Given the description of an element on the screen output the (x, y) to click on. 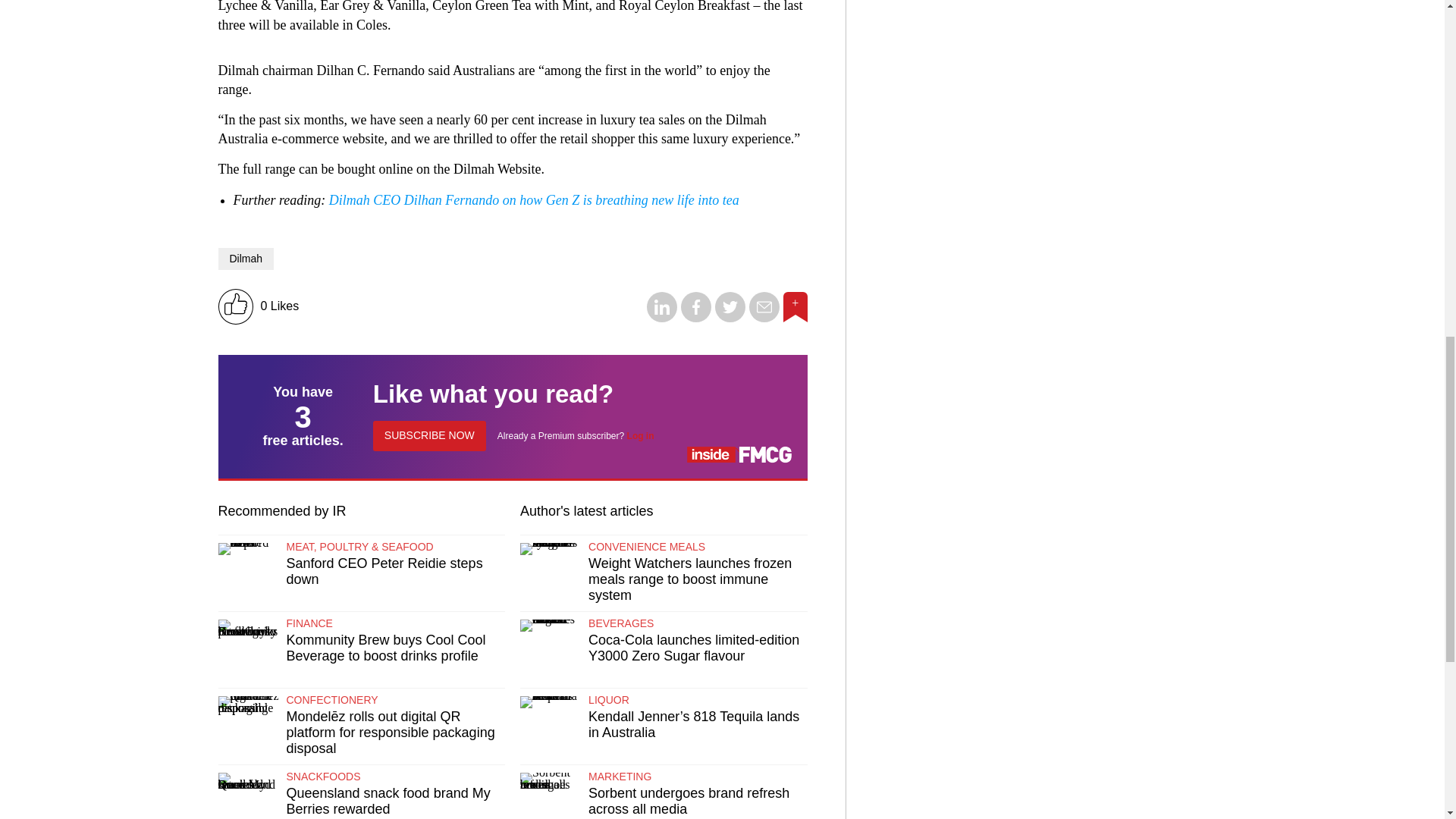
Share on Twitter (730, 318)
Share on Email (764, 318)
Share on Facebook (695, 318)
Share on LinkedIn (661, 318)
